Given the description of an element on the screen output the (x, y) to click on. 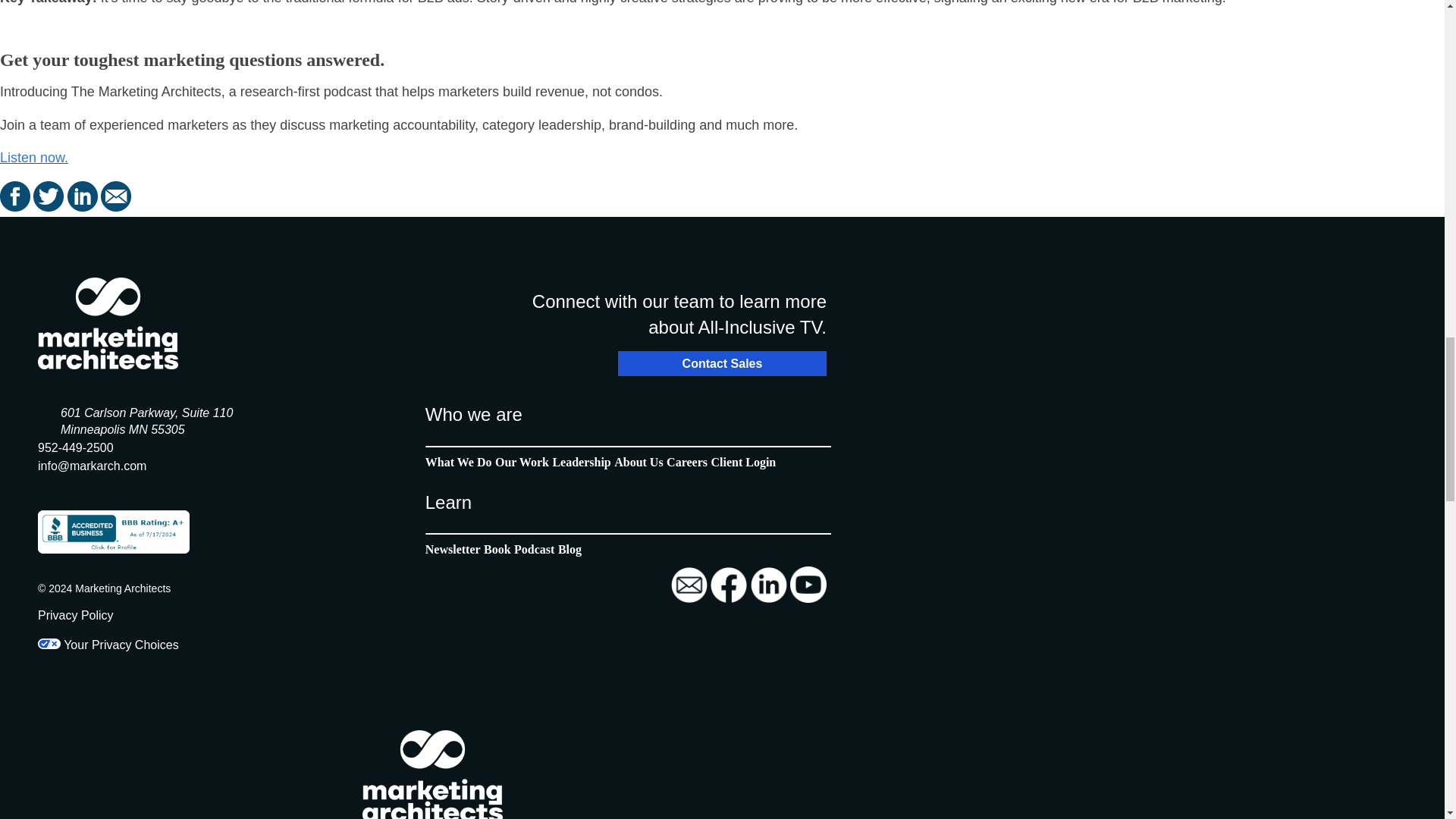
Tweet (49, 206)
Our Work (686, 461)
Our Work (638, 461)
Marketing Architects (107, 323)
Leadership (580, 461)
Share via Email (115, 206)
Leadership (497, 549)
Listen now. (34, 157)
Share on Facebook (16, 206)
Our Work (743, 461)
What We Do (458, 461)
Our Work (452, 549)
Share on LinkedIn (83, 206)
Our Work (521, 461)
call us at 952-449-2500 (75, 447)
